Given the description of an element on the screen output the (x, y) to click on. 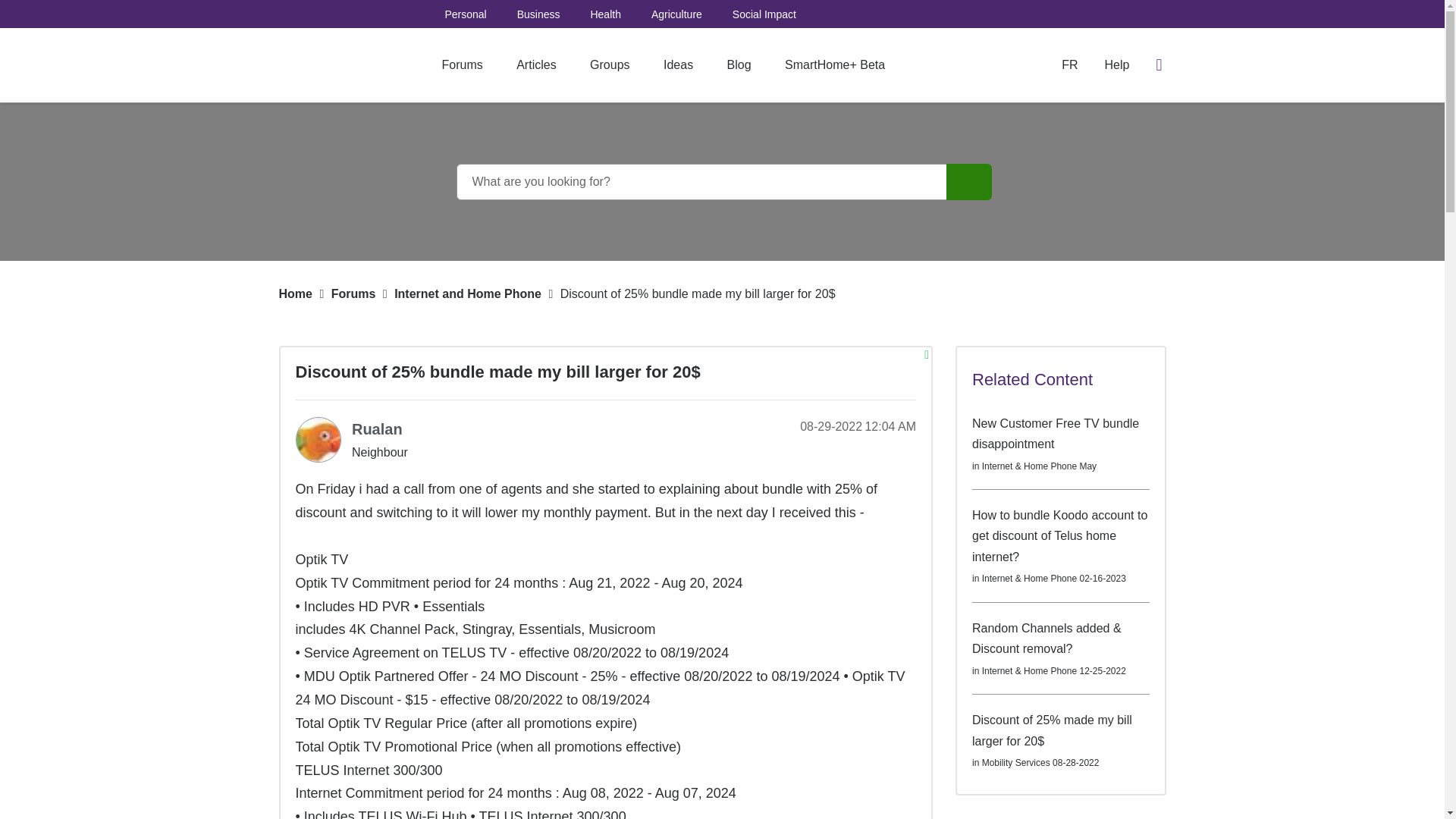
Agriculture (675, 14)
FR (1069, 64)
Search (968, 181)
Business (538, 14)
Internet and Home Phone (467, 293)
Rualan (317, 439)
Forums (353, 293)
Help (1117, 64)
Articles (535, 64)
Ideas (677, 64)
